Given the description of an element on the screen output the (x, y) to click on. 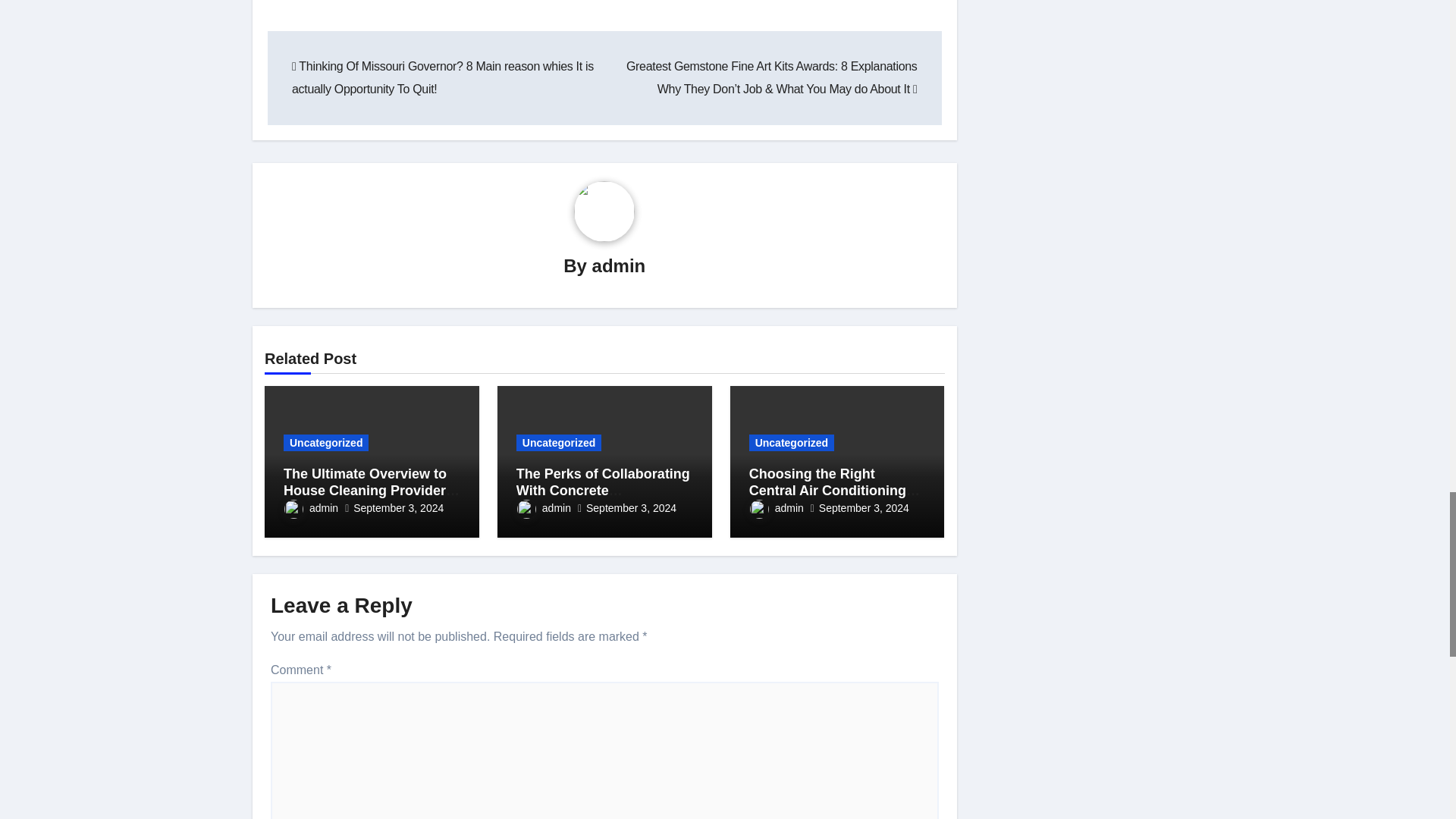
admin (619, 265)
Uncategorized (325, 442)
